Given the description of an element on the screen output the (x, y) to click on. 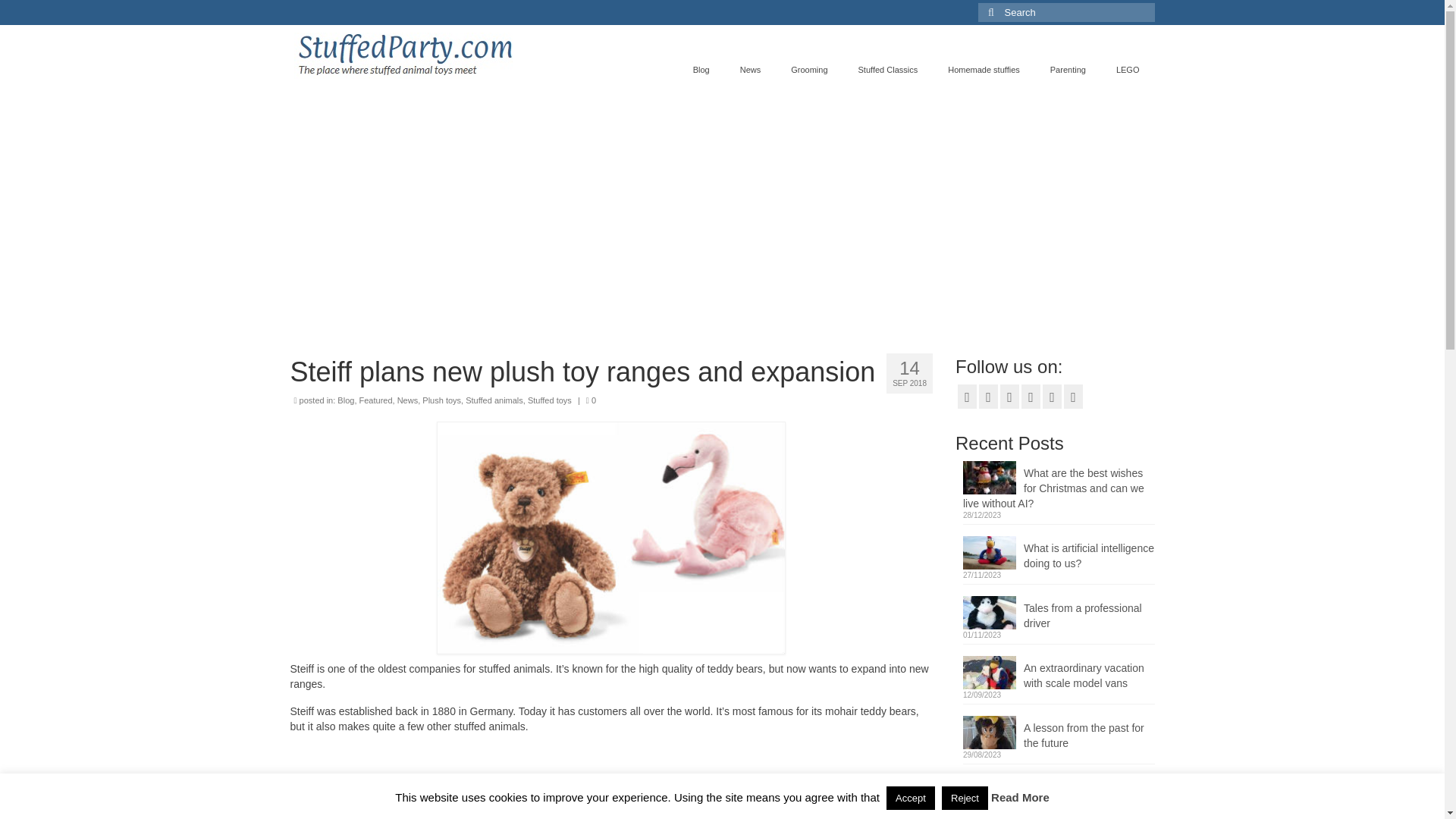
Stuffed animals (493, 399)
Stuffed toys (549, 399)
Featured (376, 399)
News (750, 69)
LEGO (1127, 69)
Stuffed Classics (888, 69)
Homemade stuffies (984, 69)
Plush toys (441, 399)
Blog (345, 399)
Grooming (809, 69)
News (408, 399)
Advertisement (611, 782)
Parenting (1067, 69)
Blog (701, 69)
